Given the description of an element on the screen output the (x, y) to click on. 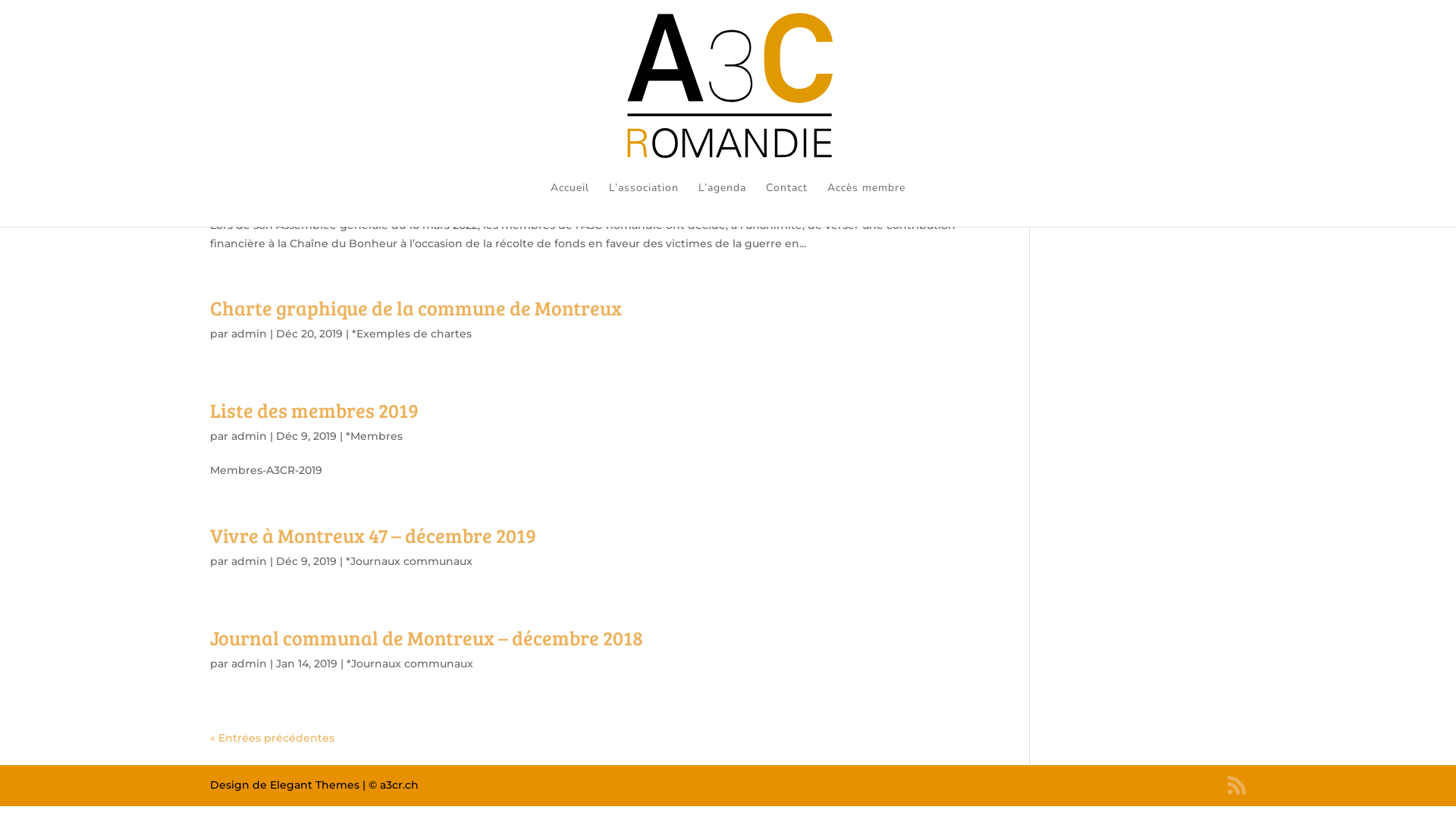
Liste des membres 2019 Element type: text (314, 409)
Charte graphique de la commune de Montreux Element type: text (415, 307)
*Journaux communaux Element type: text (408, 560)
Accueil Element type: text (569, 203)
admin Element type: text (248, 560)
admin Element type: text (248, 663)
*Exemples de chartes Element type: text (411, 333)
*Membres Element type: text (373, 435)
*Journaux communaux Element type: text (409, 663)
admin Element type: text (248, 190)
admin Element type: text (248, 333)
Contact Element type: text (786, 203)
admin Element type: text (248, 435)
